Given the description of an element on the screen output the (x, y) to click on. 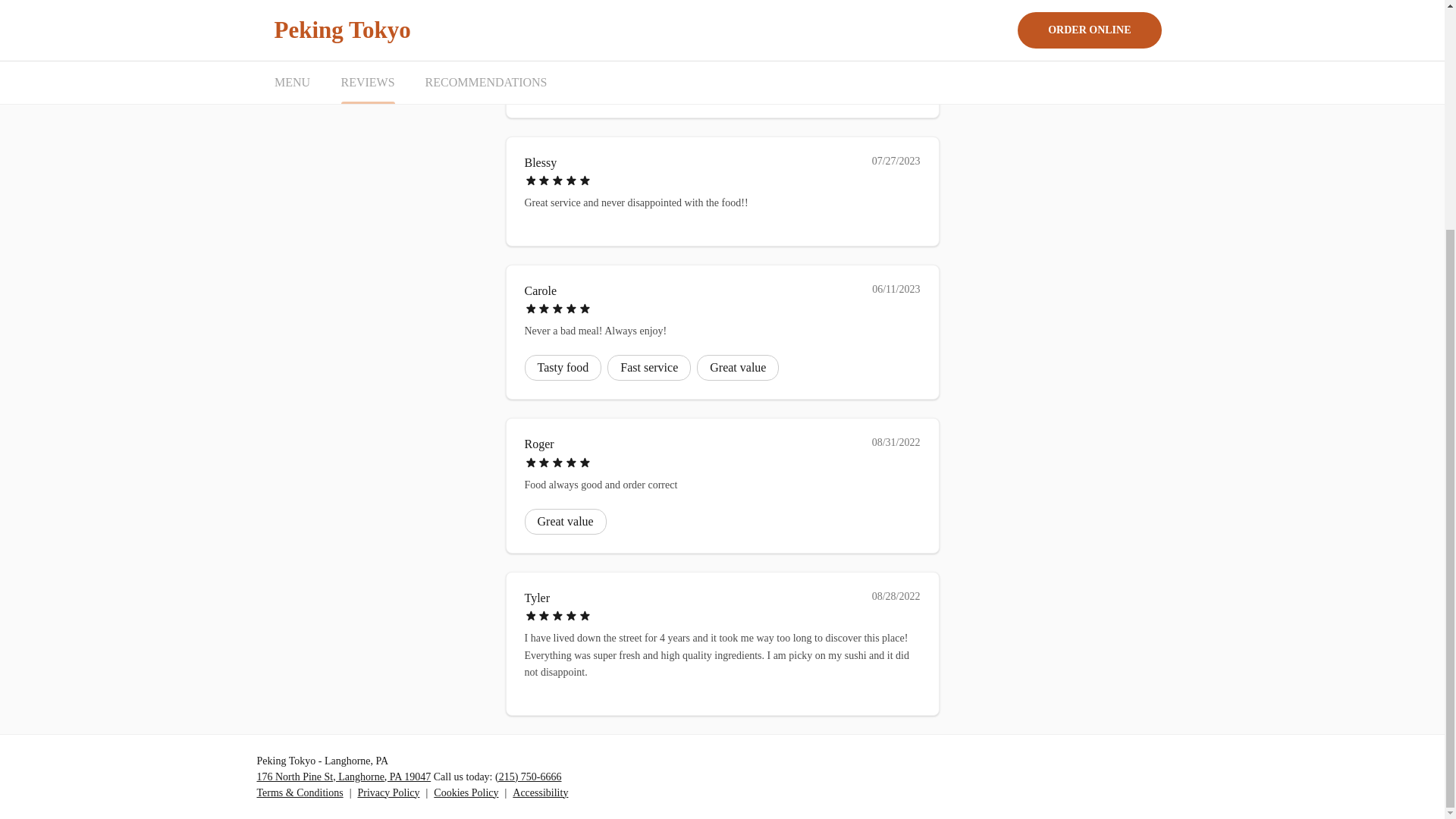
Accessibility (539, 791)
Privacy Policy (387, 791)
176 North Pine St, Langhorne, PA 19047 (343, 776)
Cookies Policy (465, 791)
